Given the description of an element on the screen output the (x, y) to click on. 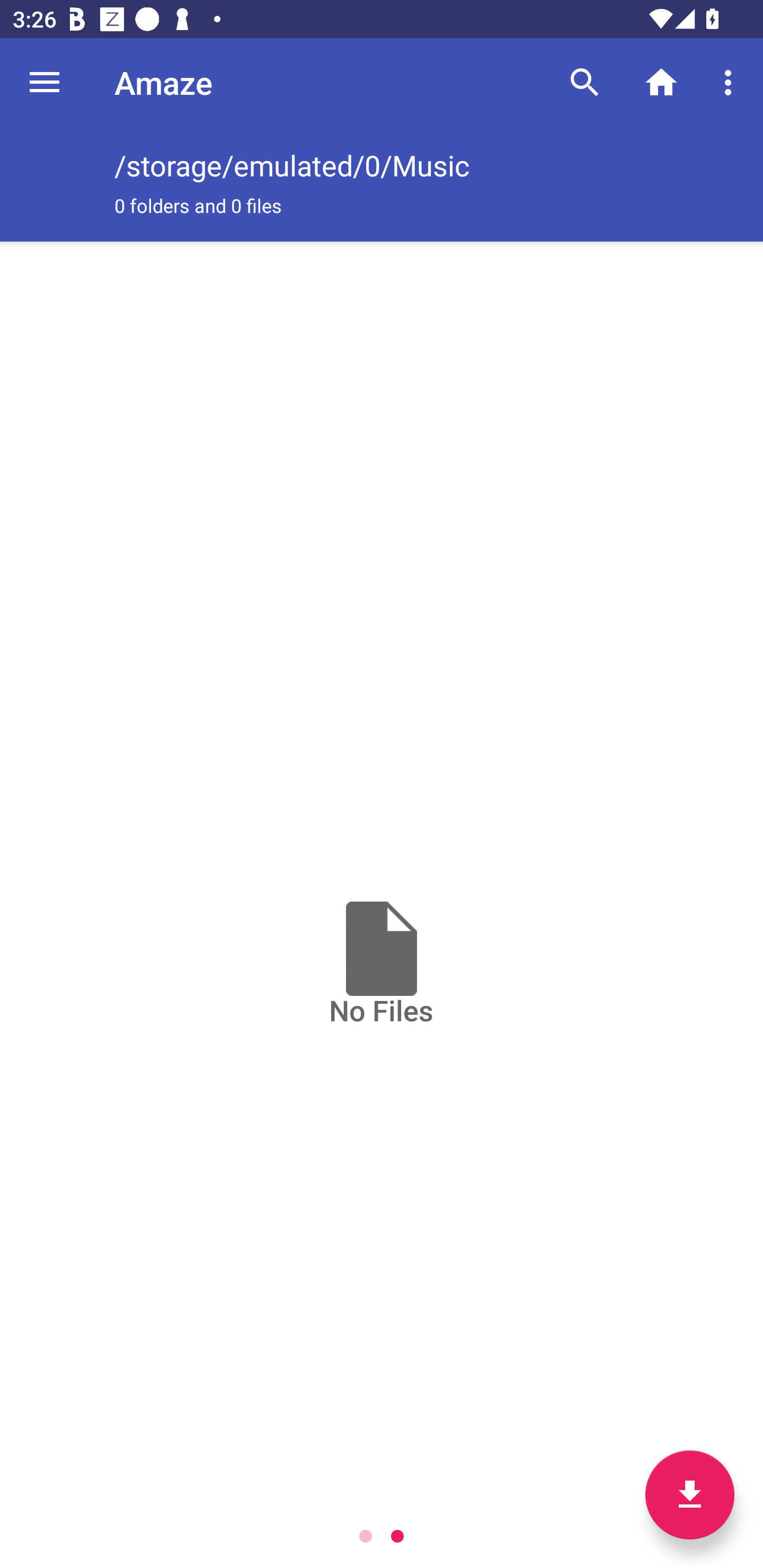
Navigate up (44, 82)
Search (585, 81)
Home (661, 81)
More options (731, 81)
